Given the description of an element on the screen output the (x, y) to click on. 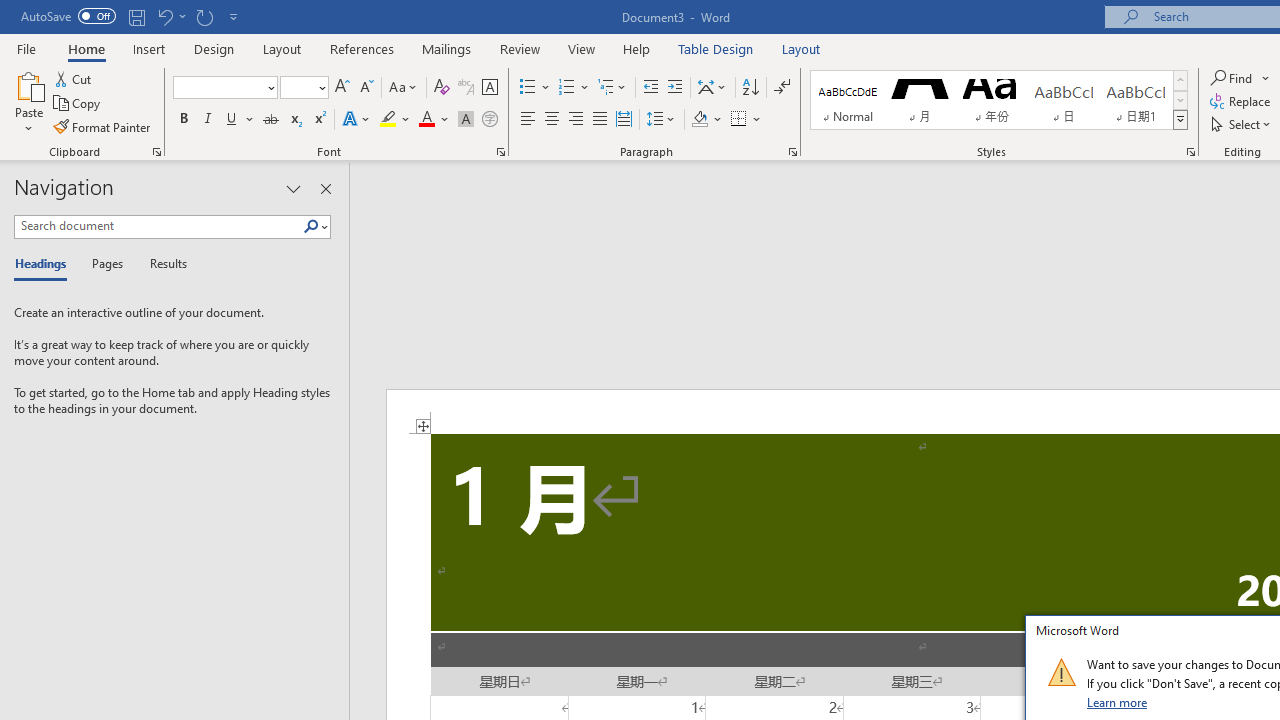
Repeat Style (204, 15)
